Given the description of an element on the screen output the (x, y) to click on. 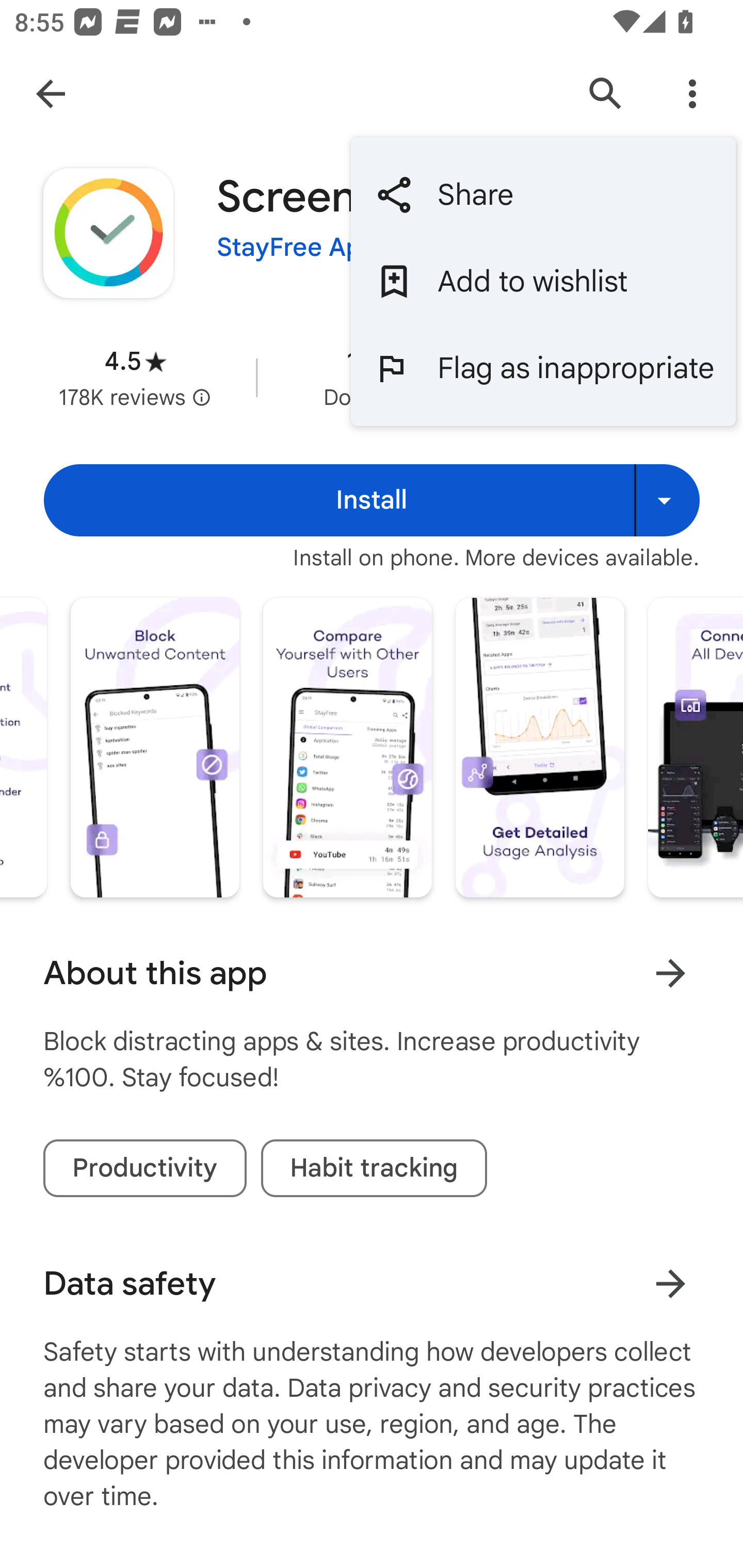
Share (542, 195)
Add to wishlist (542, 281)
Flag as inappropriate (542, 367)
